Given the description of an element on the screen output the (x, y) to click on. 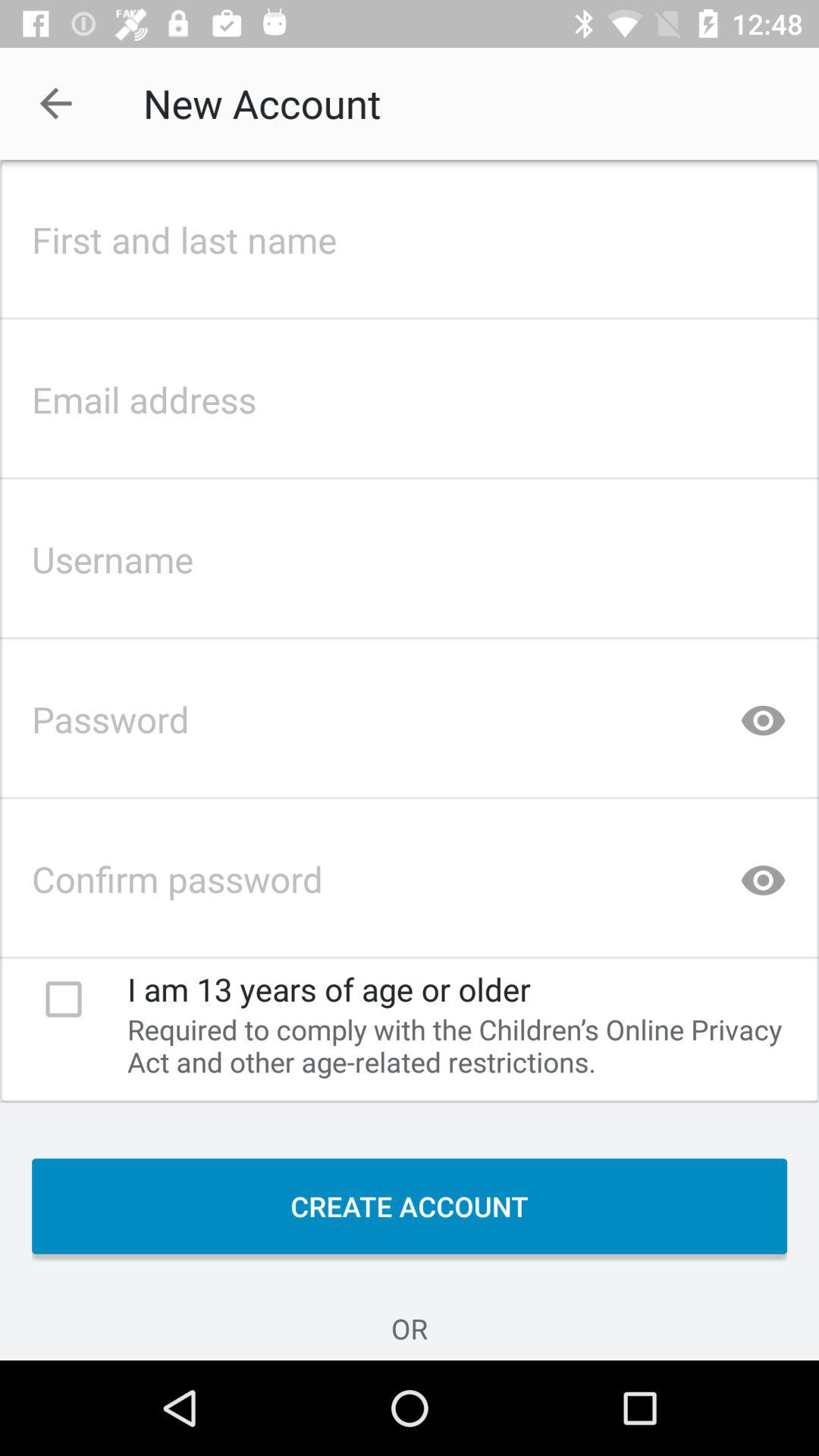
open item at the bottom left corner (63, 999)
